Given the description of an element on the screen output the (x, y) to click on. 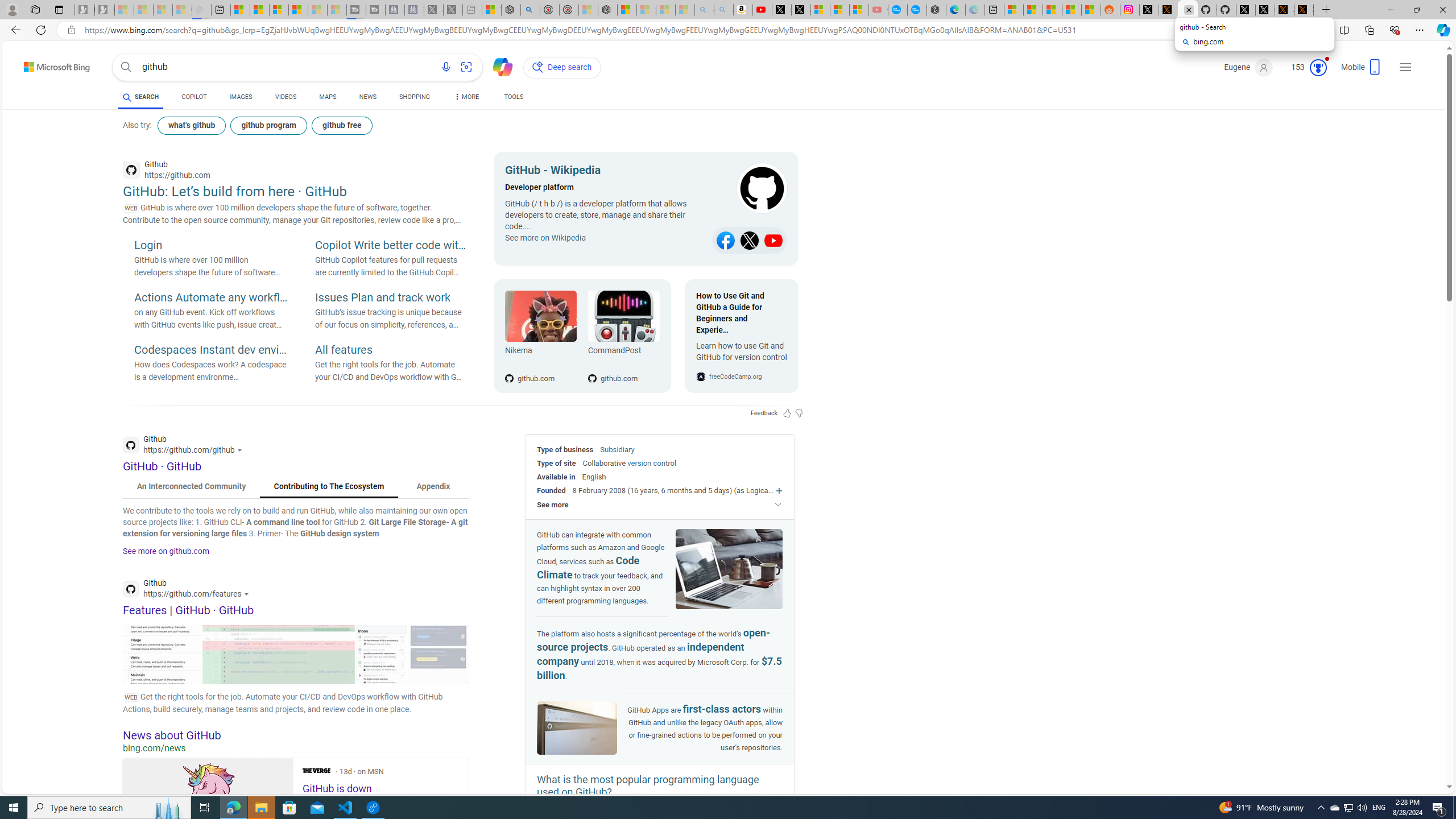
View details (437, 653)
SHOPPING (414, 98)
Mobile (1361, 70)
Nordace - Summer Adventures 2024 (510, 9)
github free (341, 125)
X - Sleeping (452, 9)
New tab - Sleeping (471, 9)
Close (1442, 9)
